Given the description of an element on the screen output the (x, y) to click on. 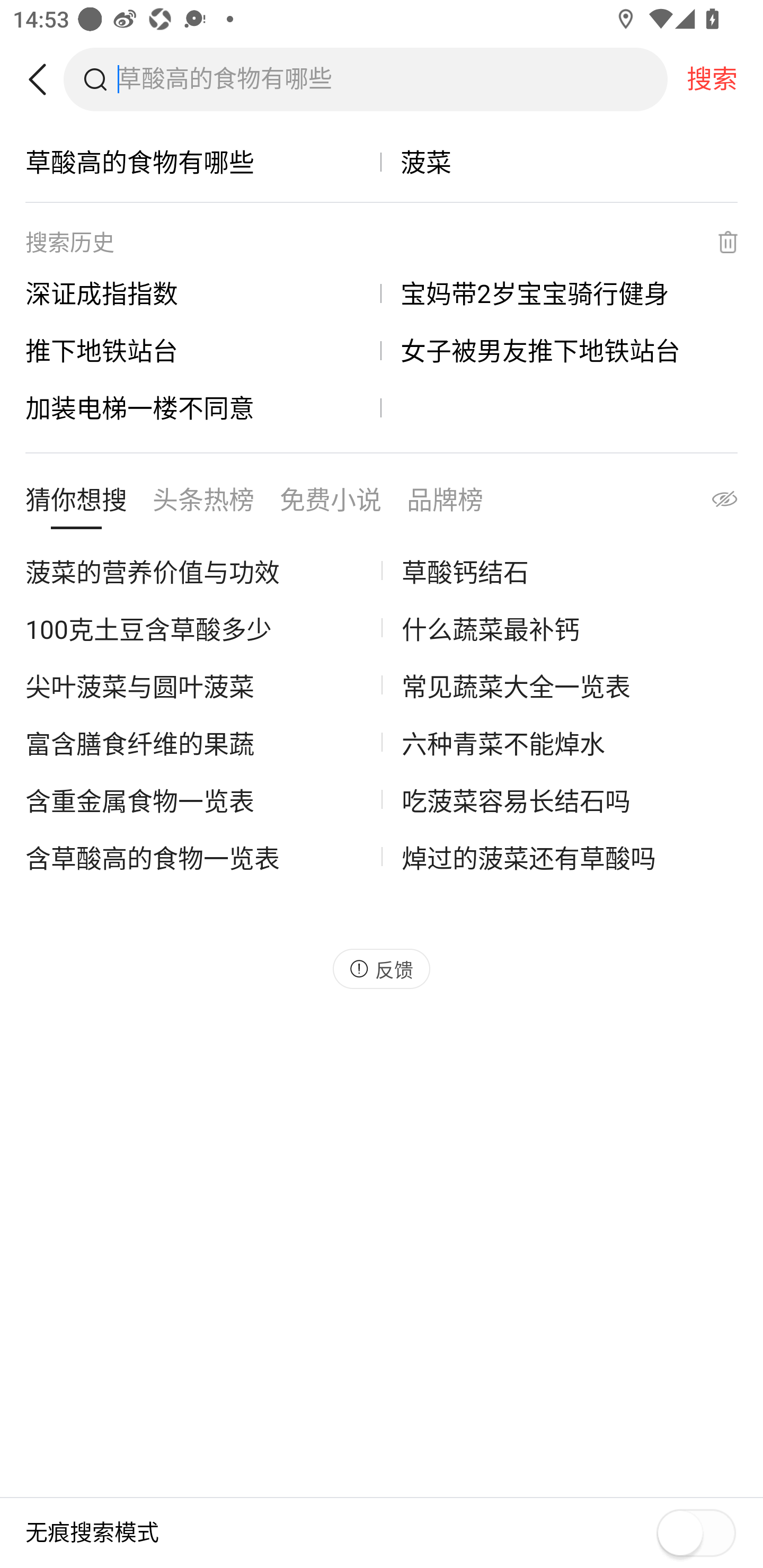
搜索框，草酸高的食物有哪些 (392, 79)
搜索 (711, 79)
返回 (44, 79)
草酸高的食物有哪些，链接, 草酸高的食物有哪些 (203, 162)
菠菜，链接, 菠菜 (559, 162)
删除搜索历史 (716, 242)
深证成指指数，链接, 深证成指指数 (203, 292)
宝妈带2岁宝宝骑行健身，链接, 宝妈带2岁宝宝骑行健身 (559, 292)
推下地铁站台，链接, 推下地铁站台 (203, 350)
女子被男友推下地铁站台，链接, 女子被男友推下地铁站台 (559, 350)
加装电梯一楼不同意，链接, 加装电梯一楼不同意 (203, 407)
猜你想搜 按钮 已选中 (76, 503)
头条热榜 按钮 (203, 503)
免费小说 按钮 (330, 503)
品牌榜 按钮 (444, 503)
隐藏全部推荐词内容 按钮 (706, 503)
反馈, 按钮 (381, 968)
